Given the description of an element on the screen output the (x, y) to click on. 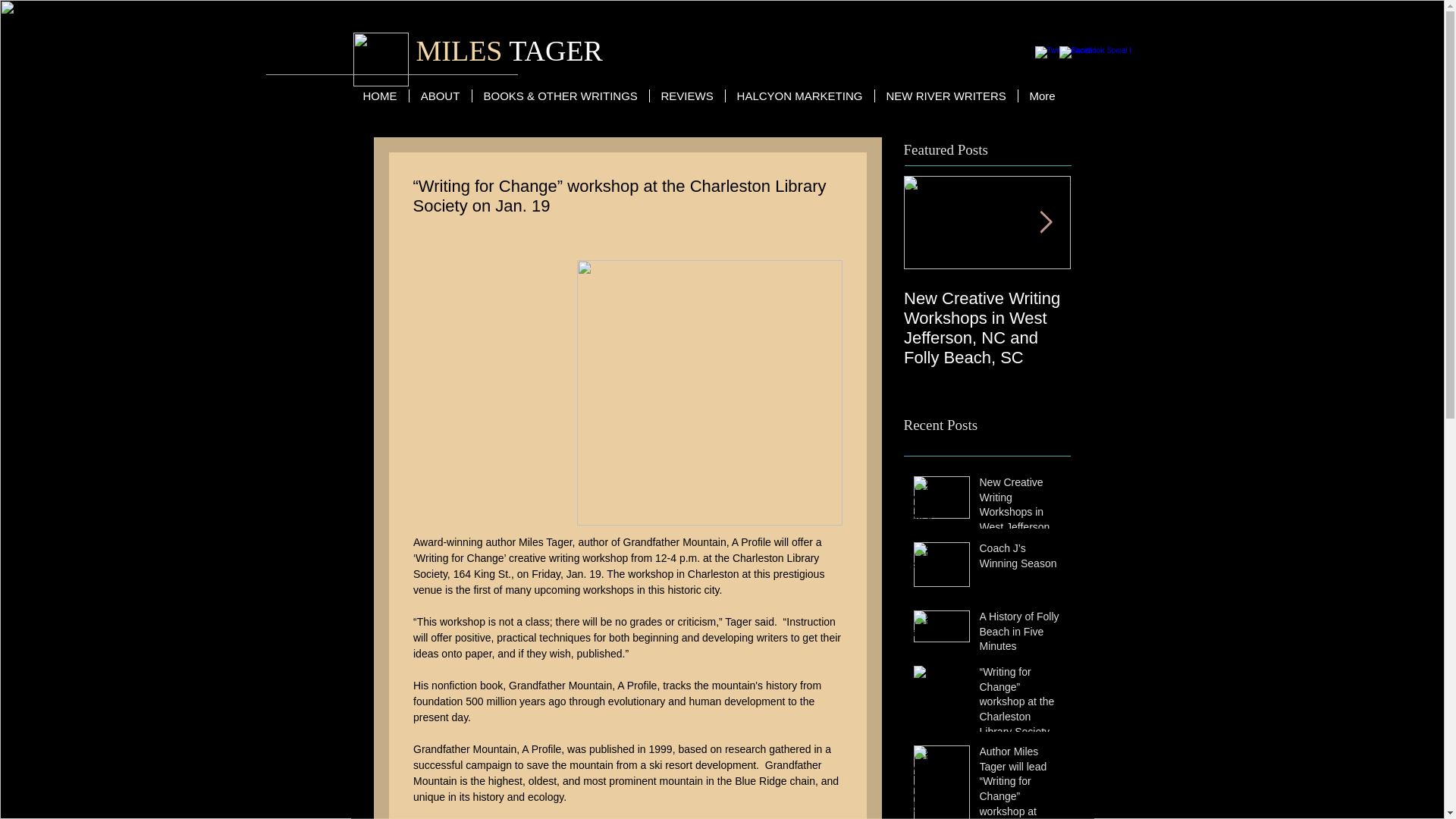
NEW RIVER WRITERS (944, 95)
A History of Folly Beach in Five Minutes (1020, 634)
ABOUT (438, 95)
Facebook Like (995, 56)
HALCYON MARKETING (800, 95)
MILES TAGER (508, 50)
REVIEWS (687, 95)
HOME (380, 95)
